Given the description of an element on the screen output the (x, y) to click on. 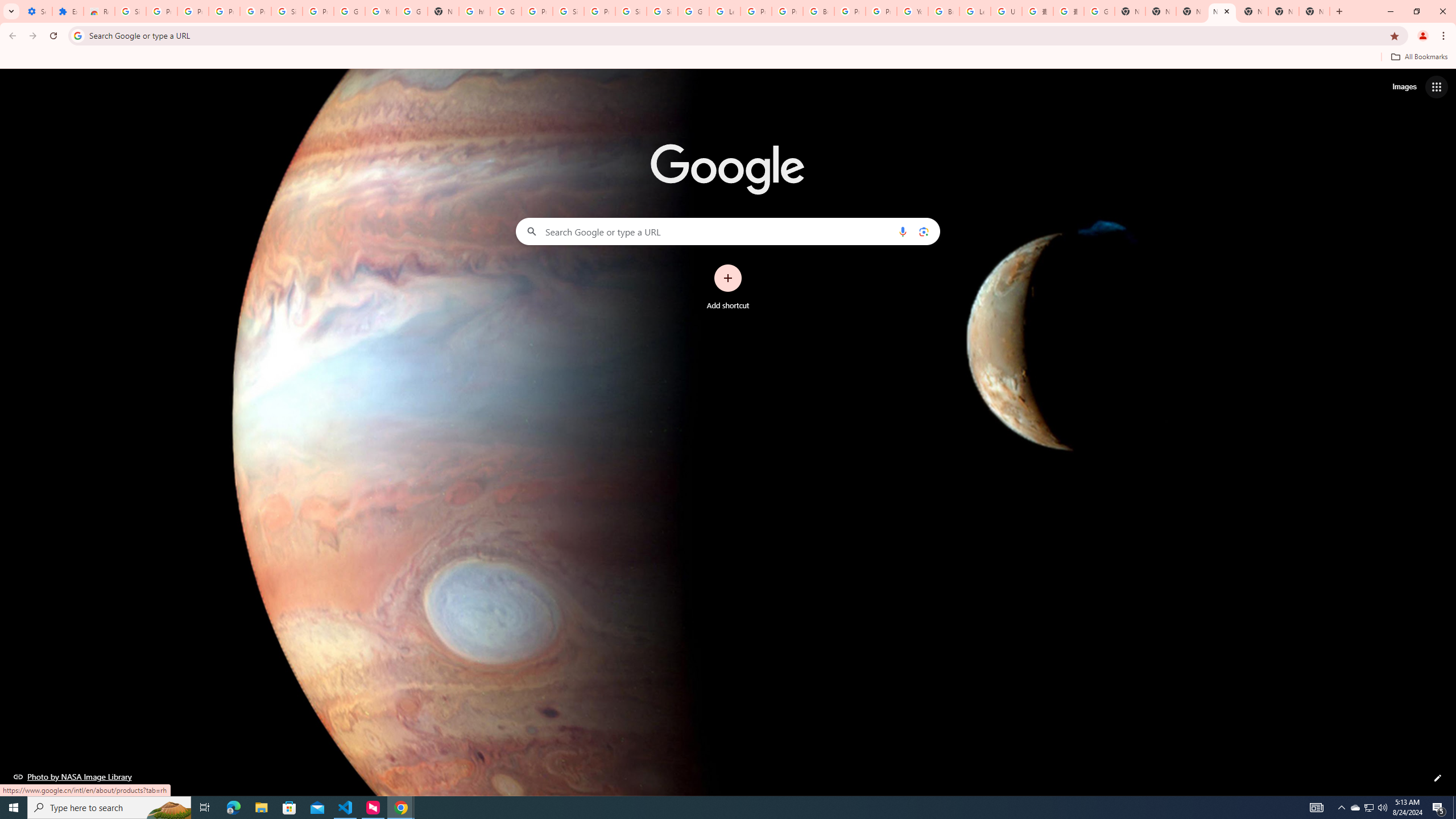
Photo by NASA Image Library (72, 776)
Customize this page (1437, 778)
Add shortcut (727, 287)
Sign in - Google Accounts (286, 11)
Reviews: Helix Fruit Jump Arcade Game (98, 11)
Google Images (1098, 11)
